Given the description of an element on the screen output the (x, y) to click on. 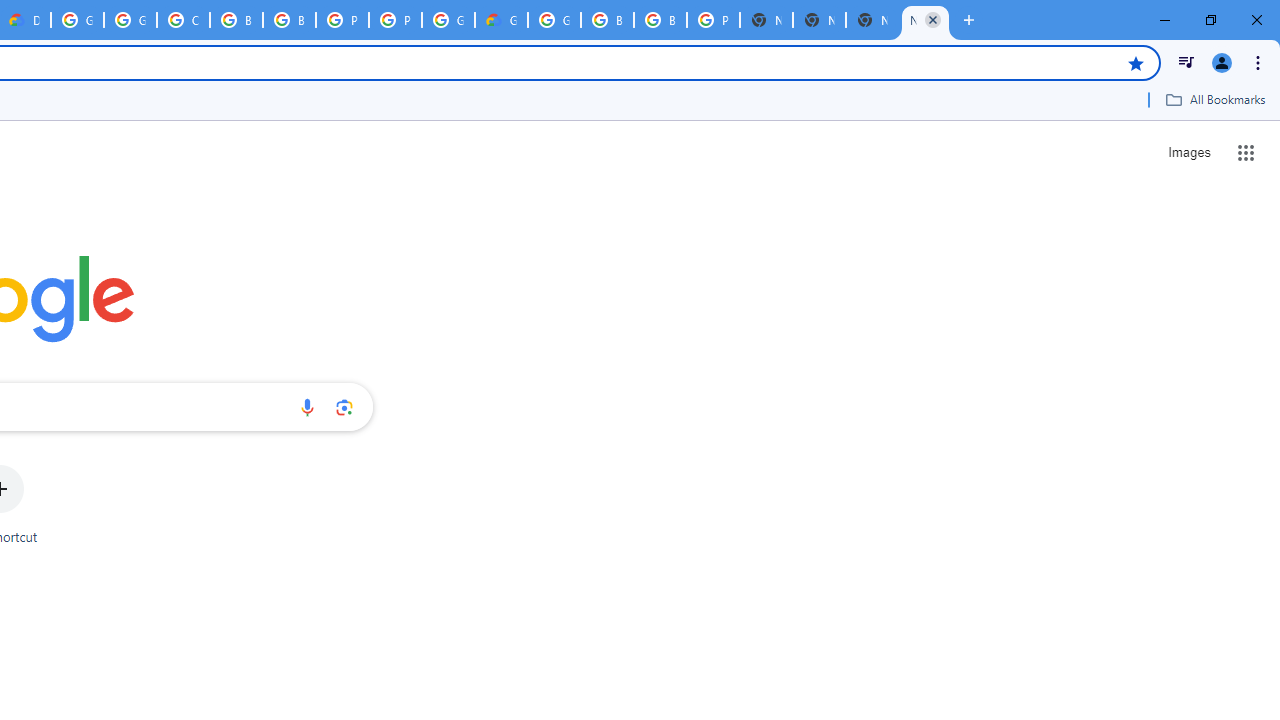
Google Cloud Platform (448, 20)
Google Cloud Platform (554, 20)
Google Cloud Platform (77, 20)
